Given the description of an element on the screen output the (x, y) to click on. 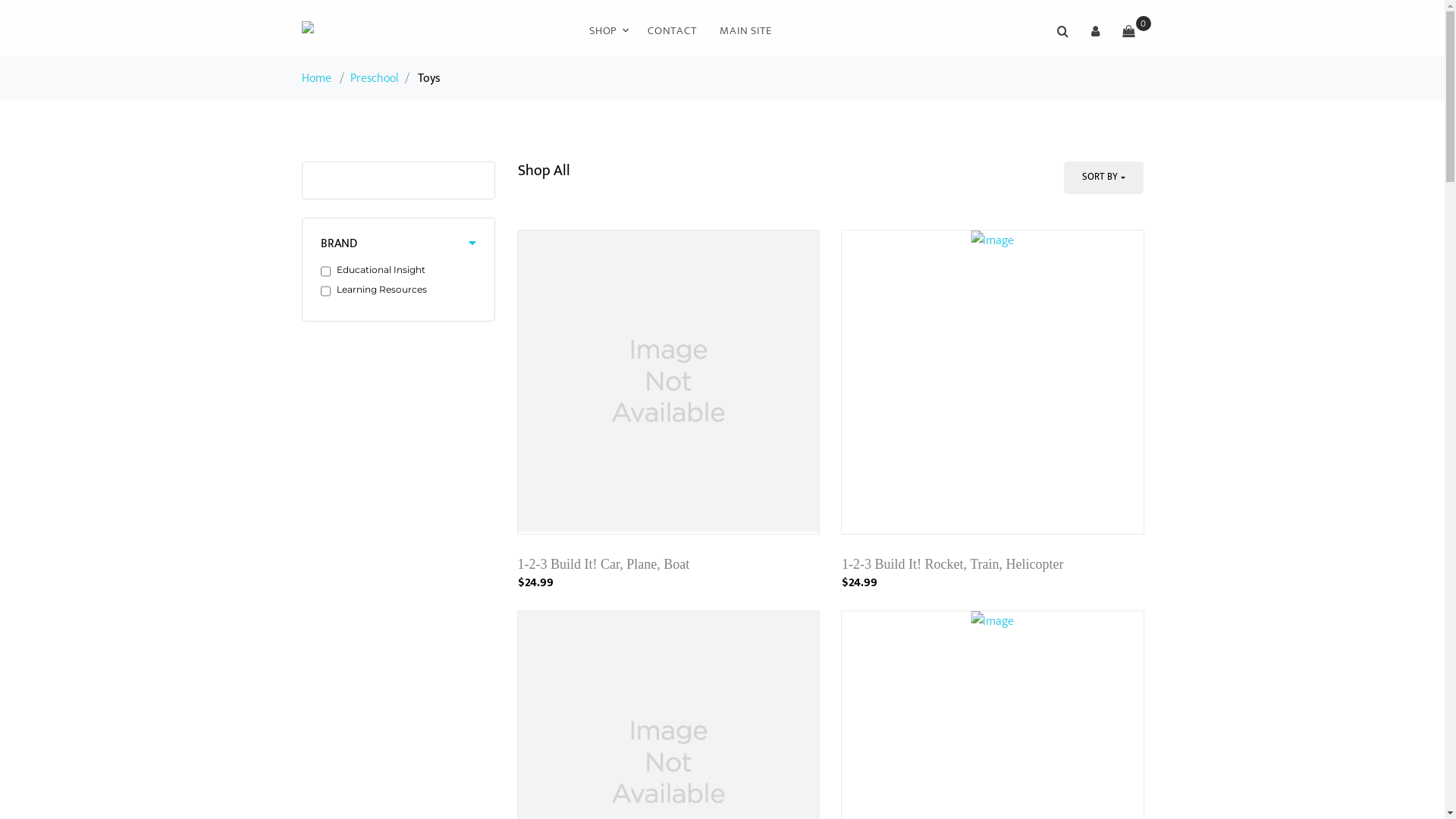
SHOP Element type: text (606, 30)
SORT BY Element type: text (1102, 177)
0 Element type: text (1128, 30)
1-2-3 Build It! Rocket, Train, Helicopter Element type: text (952, 563)
CONTACT Element type: text (672, 30)
Home Element type: text (316, 78)
MAIN SITE Element type: text (745, 30)
Preschool Element type: text (374, 78)
1-2-3 Build It! Car, Plane, Boat Element type: text (603, 563)
